Given the description of an element on the screen output the (x, y) to click on. 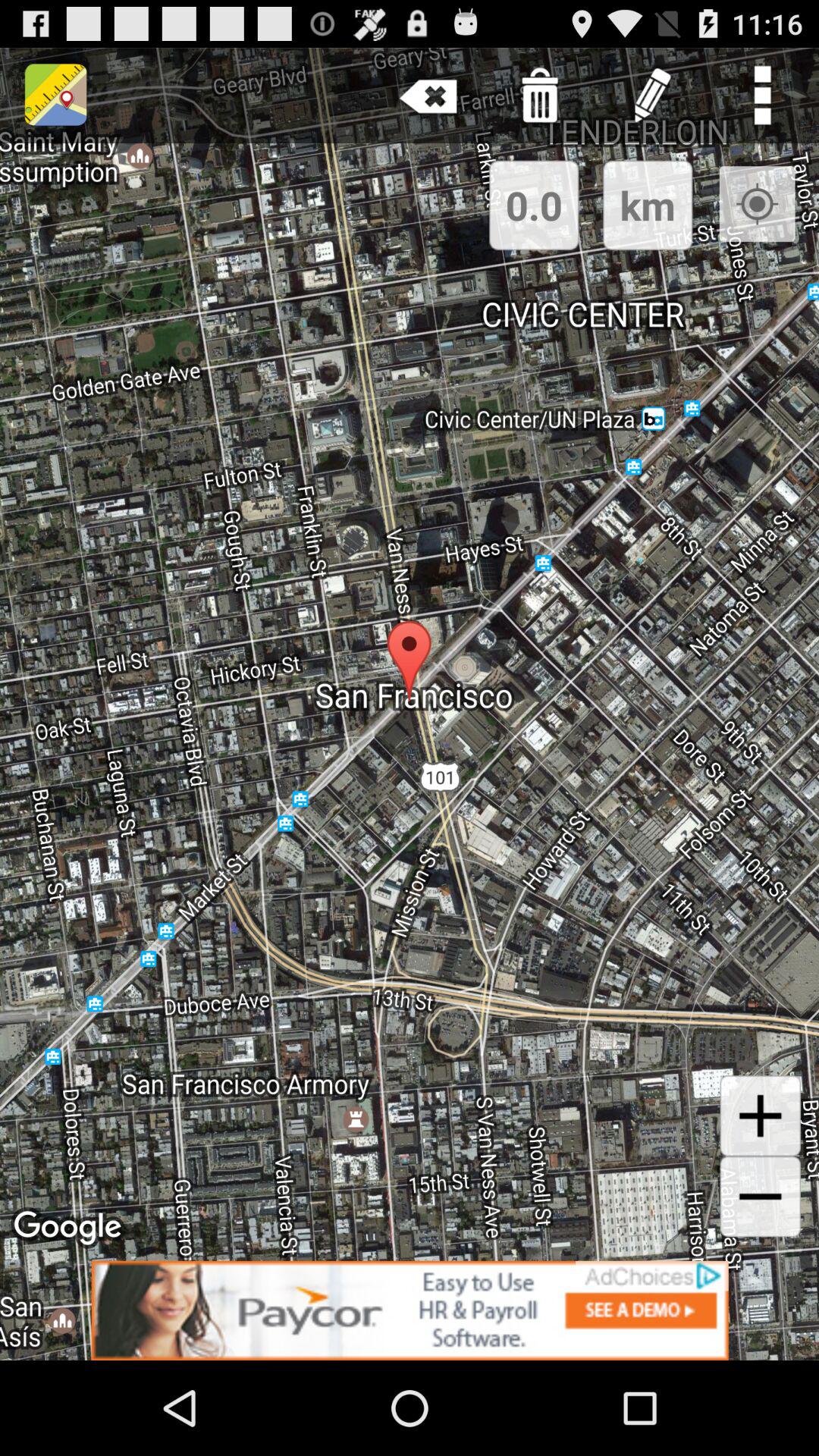
advertisement (409, 1310)
